Given the description of an element on the screen output the (x, y) to click on. 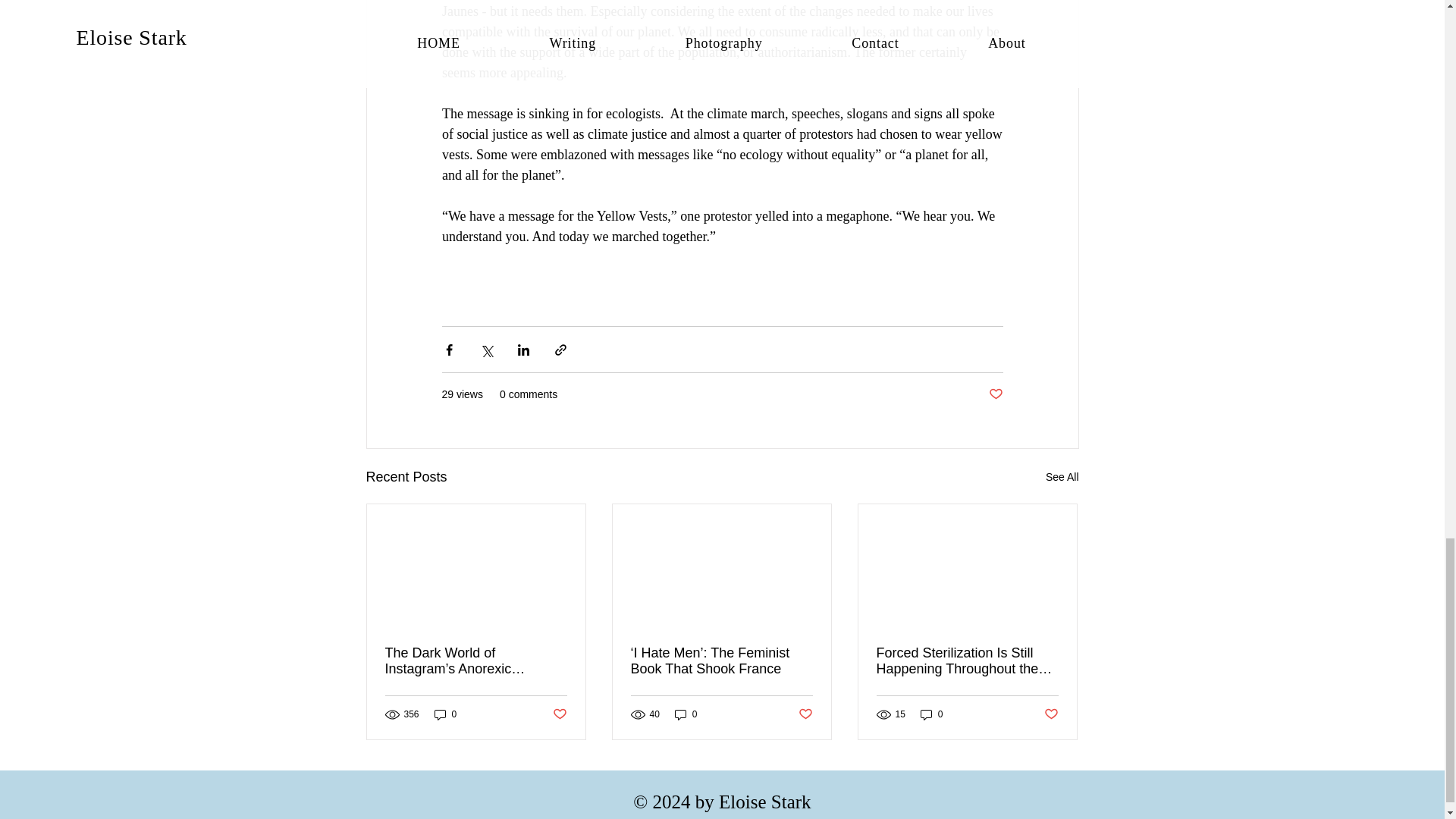
Post not marked as liked (804, 714)
Forced Sterilization Is Still Happening Throughout the World (967, 661)
Post not marked as liked (558, 714)
0 (931, 714)
Post not marked as liked (995, 394)
0 (685, 714)
See All (1061, 477)
0 (445, 714)
Post not marked as liked (1050, 714)
